Given the description of an element on the screen output the (x, y) to click on. 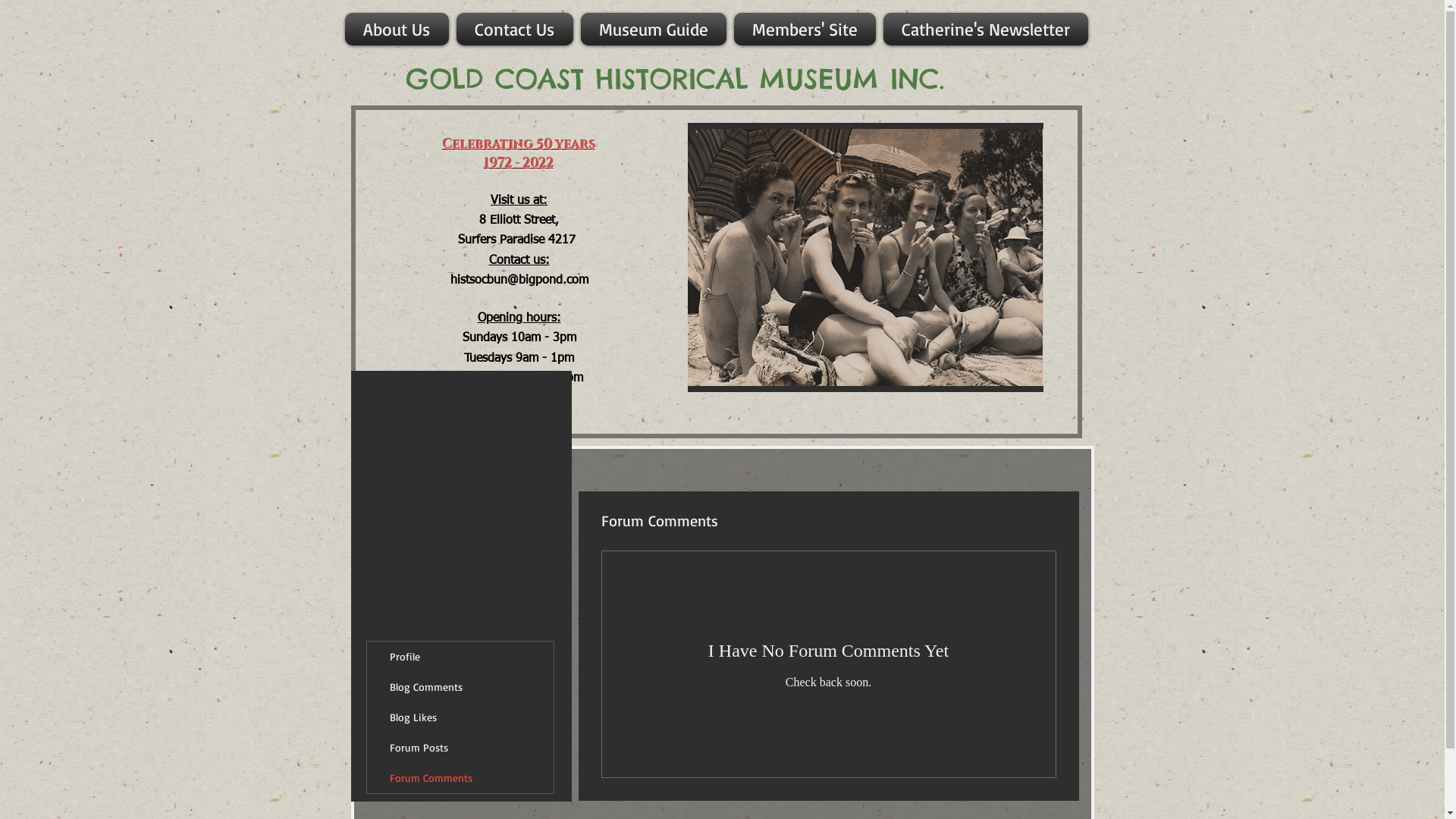
Blog Comments Element type: text (460, 686)
Forum Comments Element type: text (460, 777)
About Us Element type: text (397, 28)
Contact Us Element type: text (513, 28)
Catherine's Newsletter Element type: text (983, 28)
Profile Element type: text (460, 656)
Forum Posts Element type: text (460, 747)
Blog Likes Element type: text (460, 717)
Museum Guide Element type: text (652, 28)
histsocbun@bigpond.com Element type: text (519, 280)
Members' Site Element type: text (803, 28)
